Given the description of an element on the screen output the (x, y) to click on. 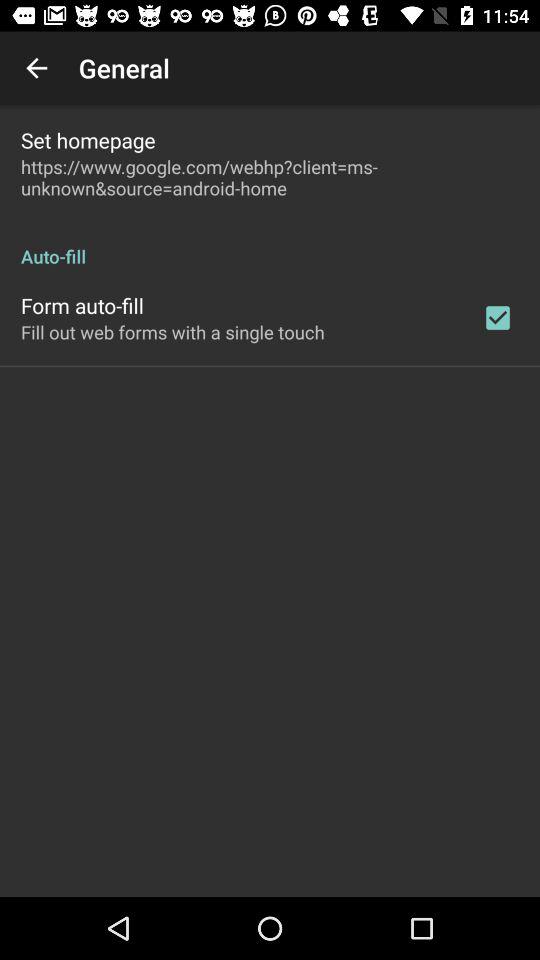
launch the app below set homepage icon (270, 177)
